Given the description of an element on the screen output the (x, y) to click on. 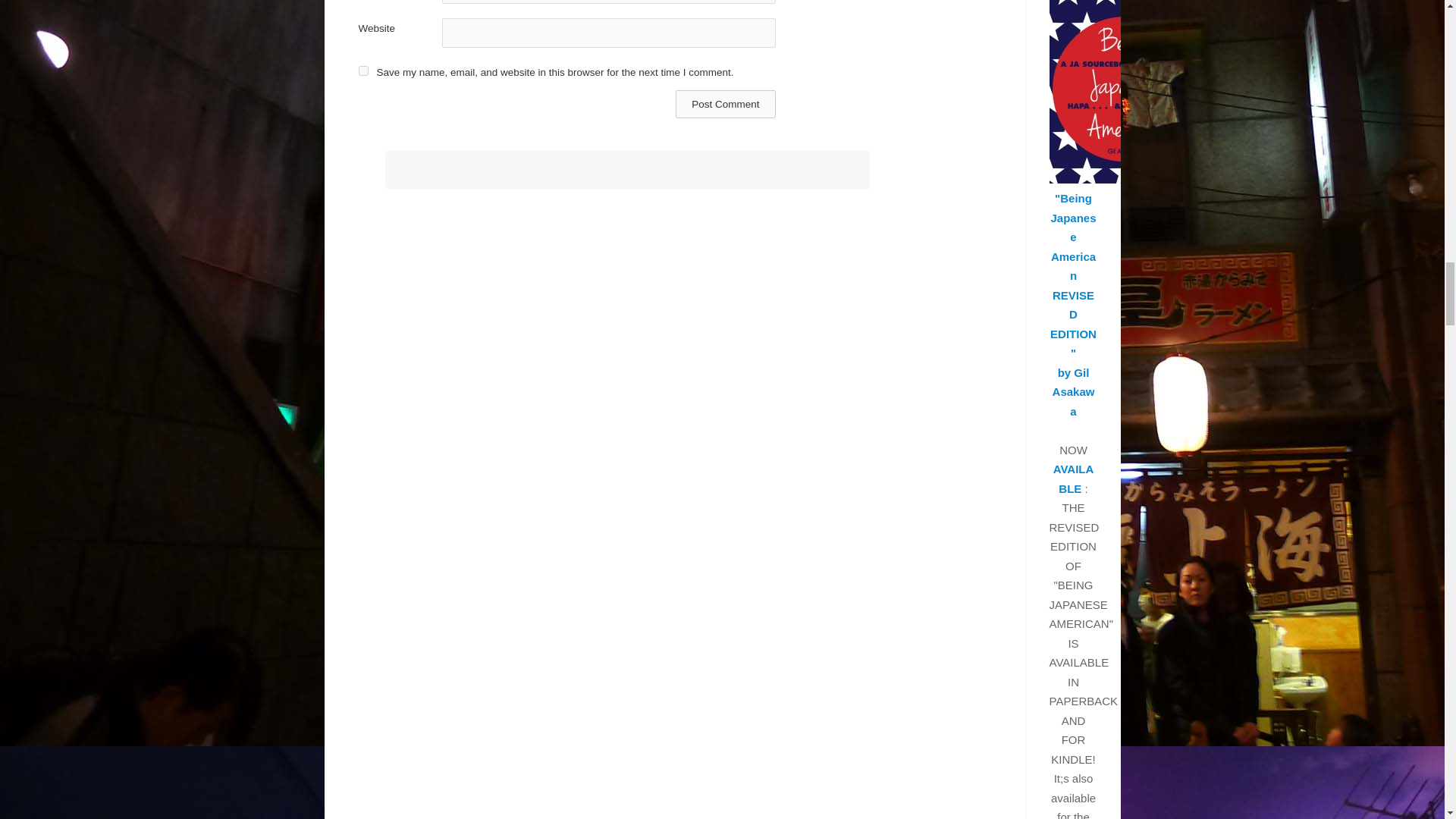
Post Comment (724, 103)
yes (363, 71)
Post Comment (724, 103)
